Given the description of an element on the screen output the (x, y) to click on. 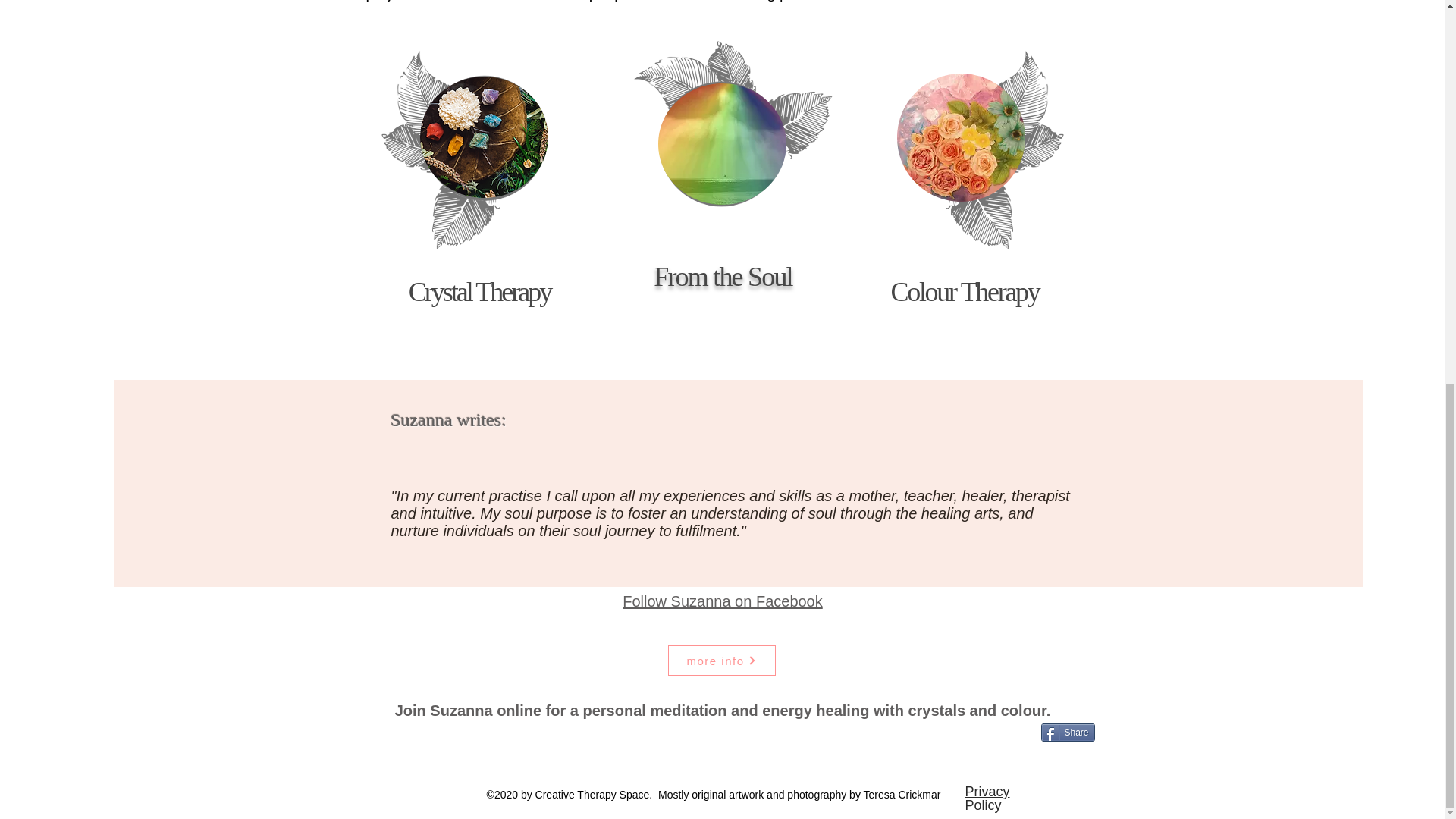
Share (1067, 732)
Follow Suzanna on Facebook (722, 600)
Privacy Policy (986, 798)
more info (720, 660)
Share (1067, 732)
